Given the description of an element on the screen output the (x, y) to click on. 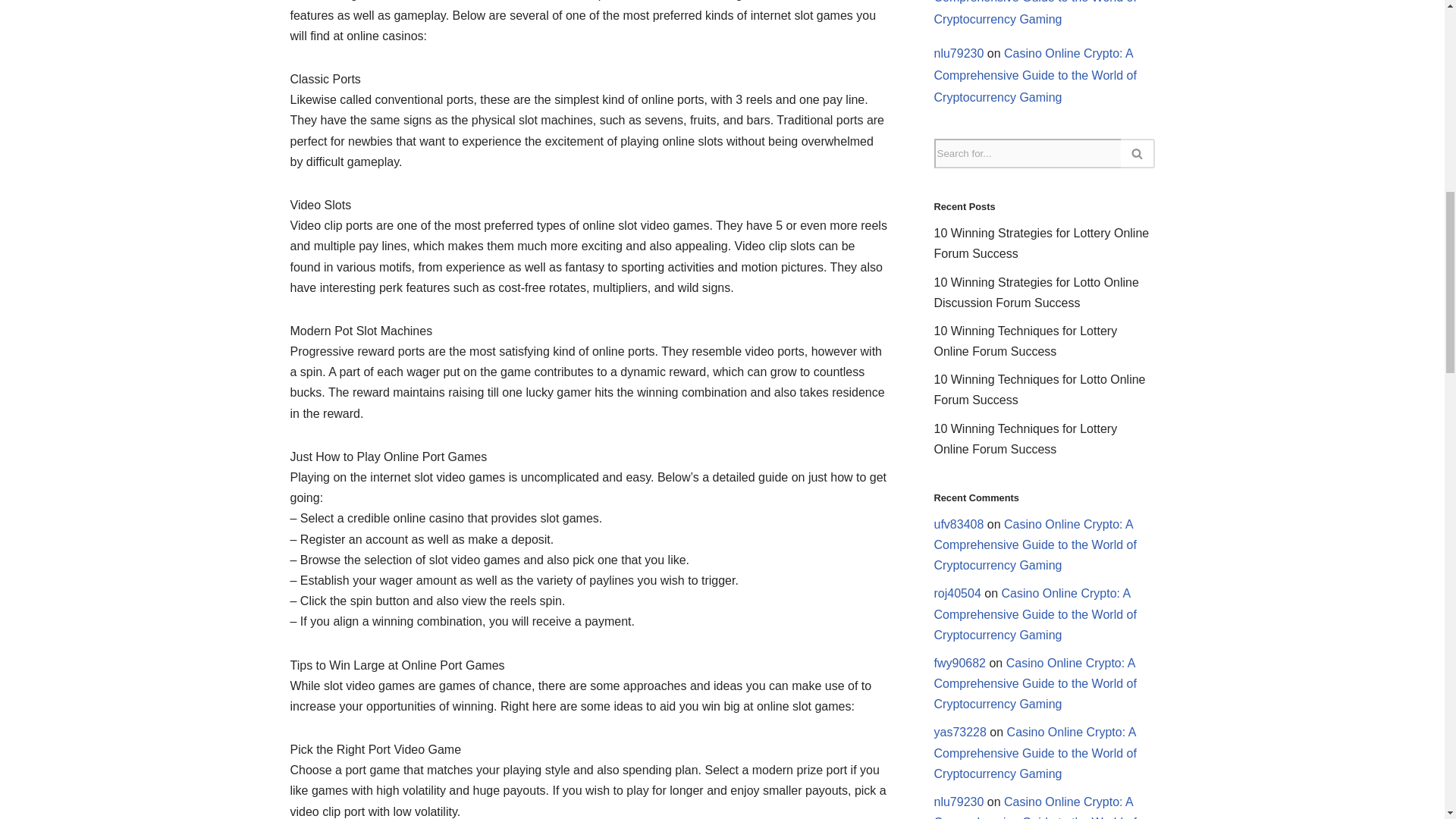
ufv83408 (959, 523)
roj40504 (957, 593)
10 Winning Techniques for Lottery Online Forum Success (1026, 438)
10 Winning Strategies for Lottery Online Forum Success (1042, 243)
nlu79230 (959, 52)
10 Winning Techniques for Lottery Online Forum Success (1026, 340)
10 Winning Techniques for Lotto Online Forum Success (1039, 389)
